Given the description of an element on the screen output the (x, y) to click on. 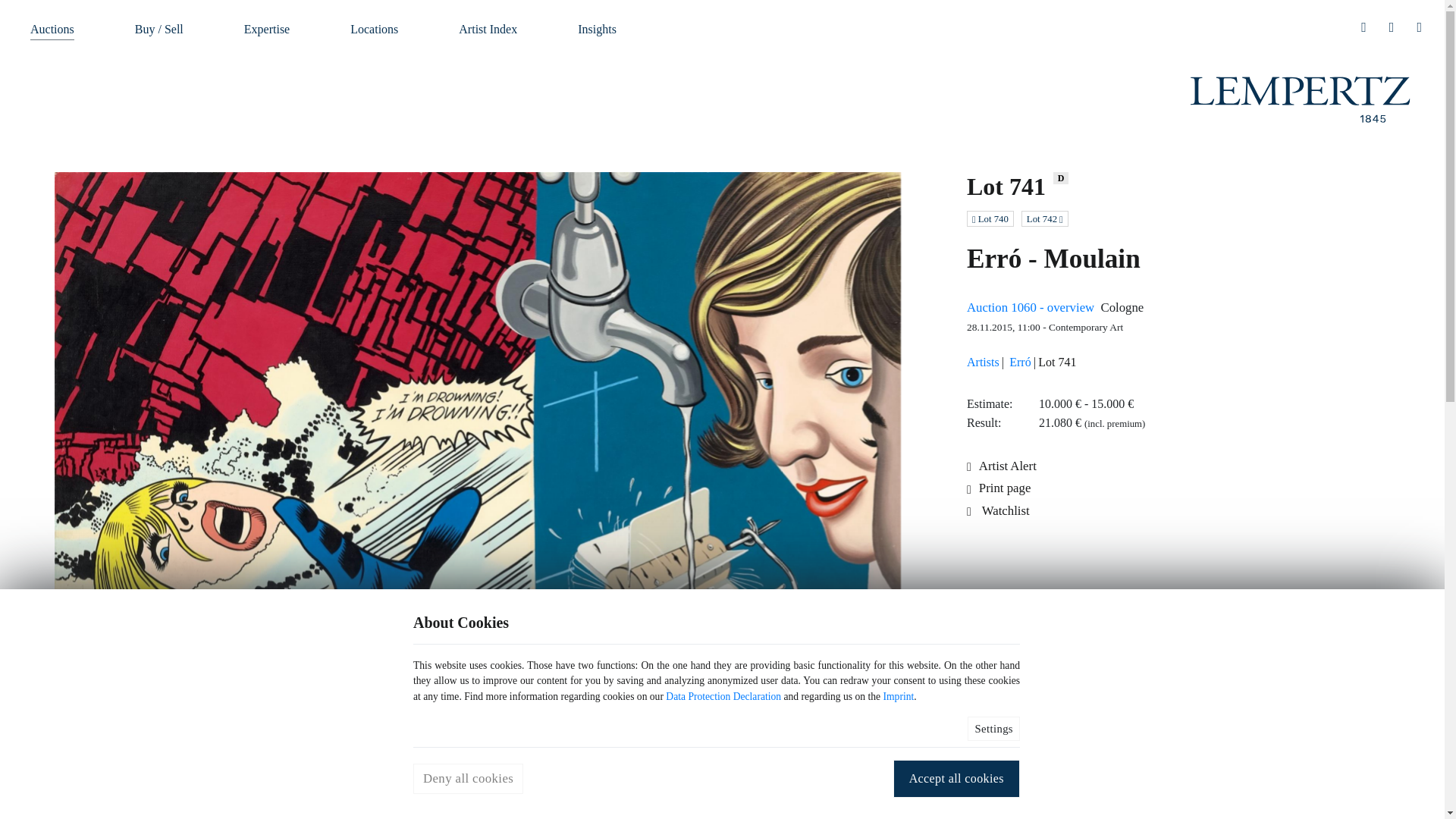
Locations (374, 27)
search (1391, 25)
show user navigation (1363, 25)
Auctions (52, 27)
Expertise (267, 27)
Auktionshaus (1300, 99)
